Given the description of an element on the screen output the (x, y) to click on. 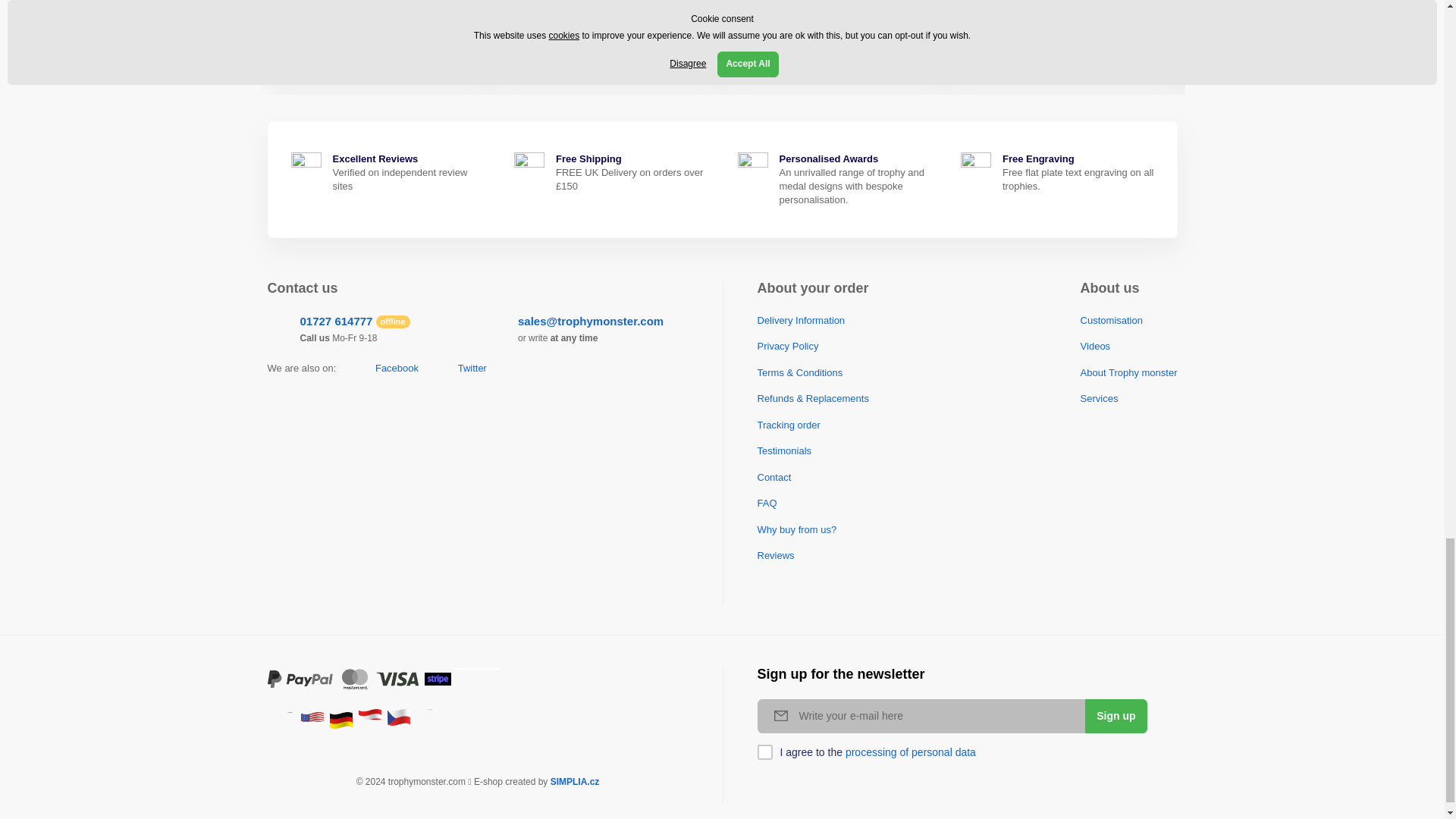
Detail (1127, 50)
Detail (444, 50)
Detail (671, 50)
Detail (899, 50)
